Given the description of an element on the screen output the (x, y) to click on. 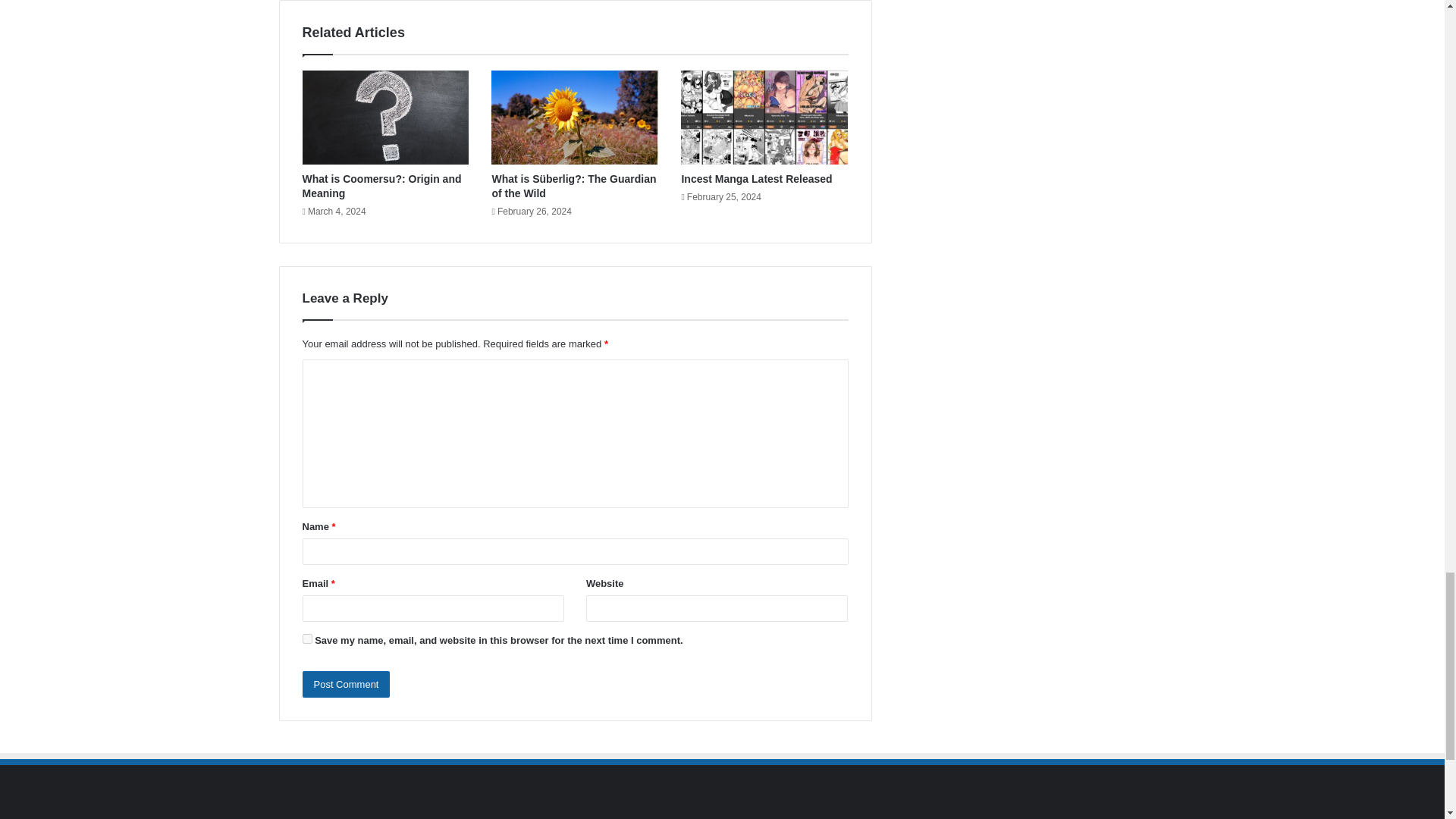
yes (306, 638)
Post Comment (345, 683)
Post Comment (345, 683)
What is Coomersu?: Origin and Meaning (381, 185)
Incest Manga Latest Released (756, 178)
